Given the description of an element on the screen output the (x, y) to click on. 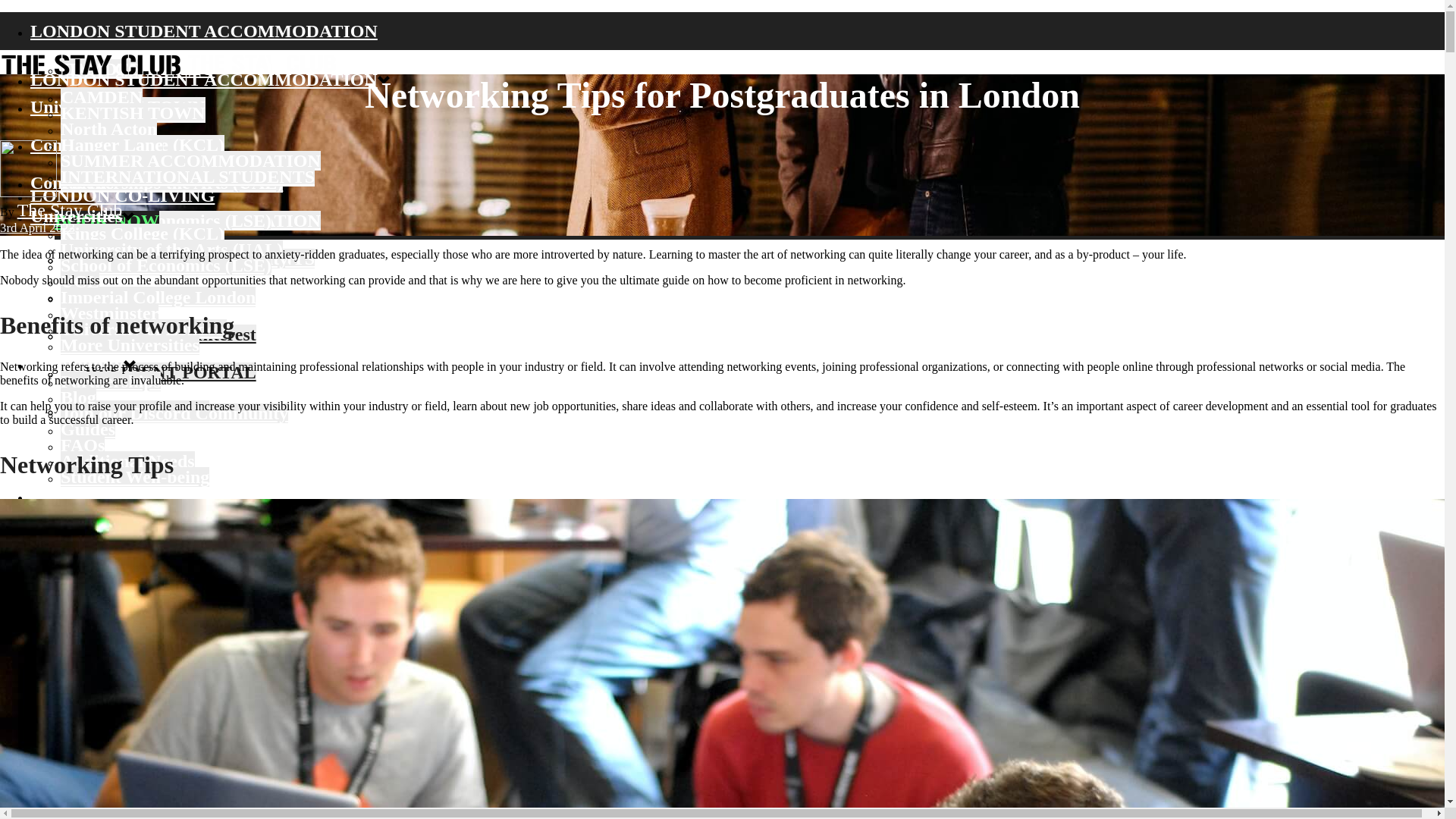
KENTISH TOWN (133, 107)
North Acton (109, 128)
Guides (88, 428)
The Stay Club (168, 68)
FAQs (82, 444)
London Student Accommodation (91, 63)
Additional Needs (128, 372)
Partnerships (110, 182)
Contact us (71, 182)
CAMDEN (101, 96)
LONDON STUDENT ACCOMMODATION (203, 79)
Student Well-being (135, 410)
Join our Discord Community (174, 413)
Student Well-being (135, 410)
BOOK NOW (106, 220)
